Given the description of an element on the screen output the (x, y) to click on. 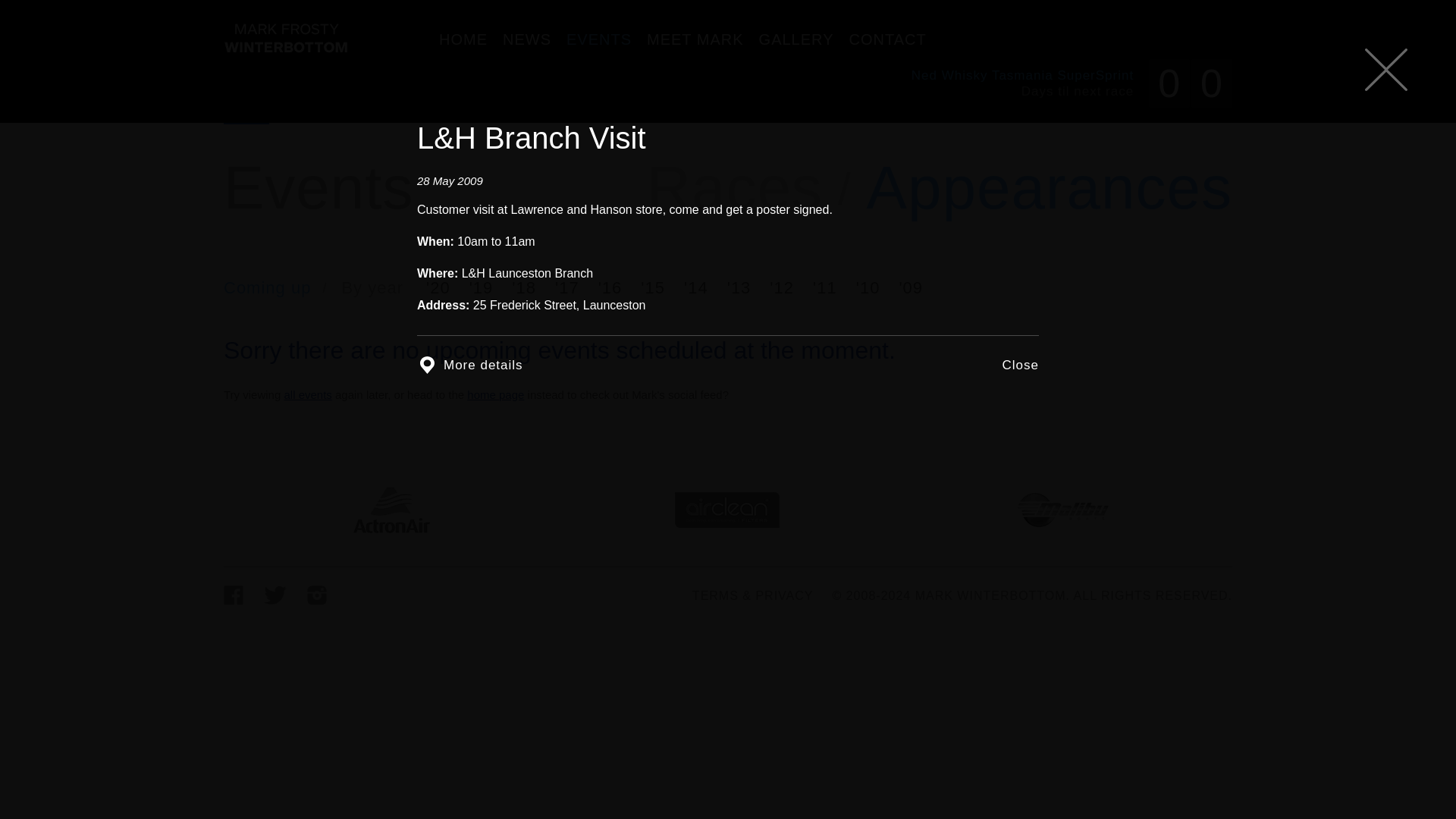
Appearances (1048, 187)
MEET MARK (695, 38)
Races (734, 187)
Events (309, 101)
'19 (480, 287)
FOLLOW MARKJWINTERBOTTOM ON INSTAGRAM (316, 595)
'13 (738, 287)
Mark "Frosty" Winterbottom (1071, 82)
'09 (285, 37)
